Given the description of an element on the screen output the (x, y) to click on. 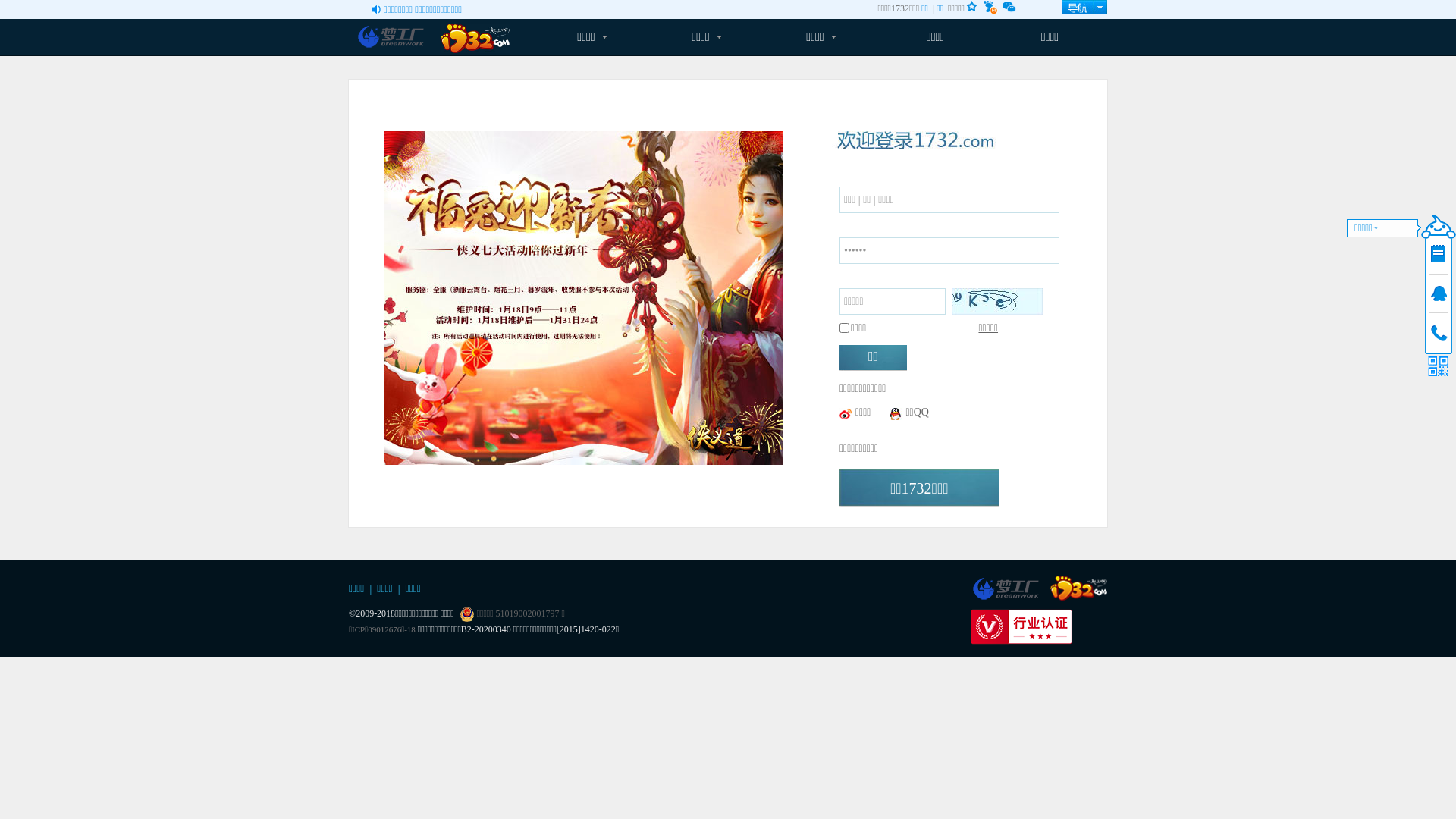
1732 Element type: text (1078, 588)
